Given the description of an element on the screen output the (x, y) to click on. 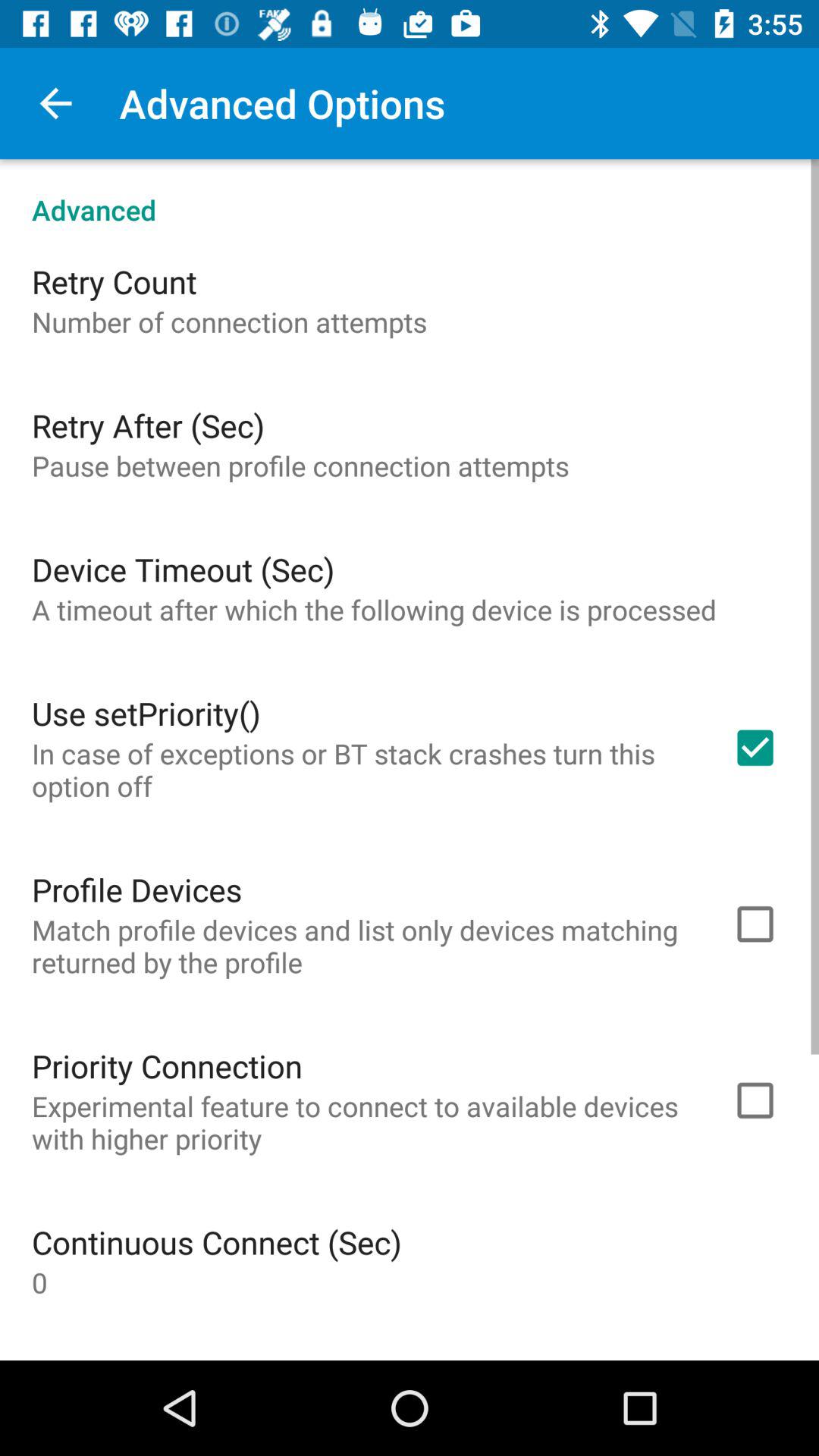
click item below the use setpriority() icon (361, 769)
